Given the description of an element on the screen output the (x, y) to click on. 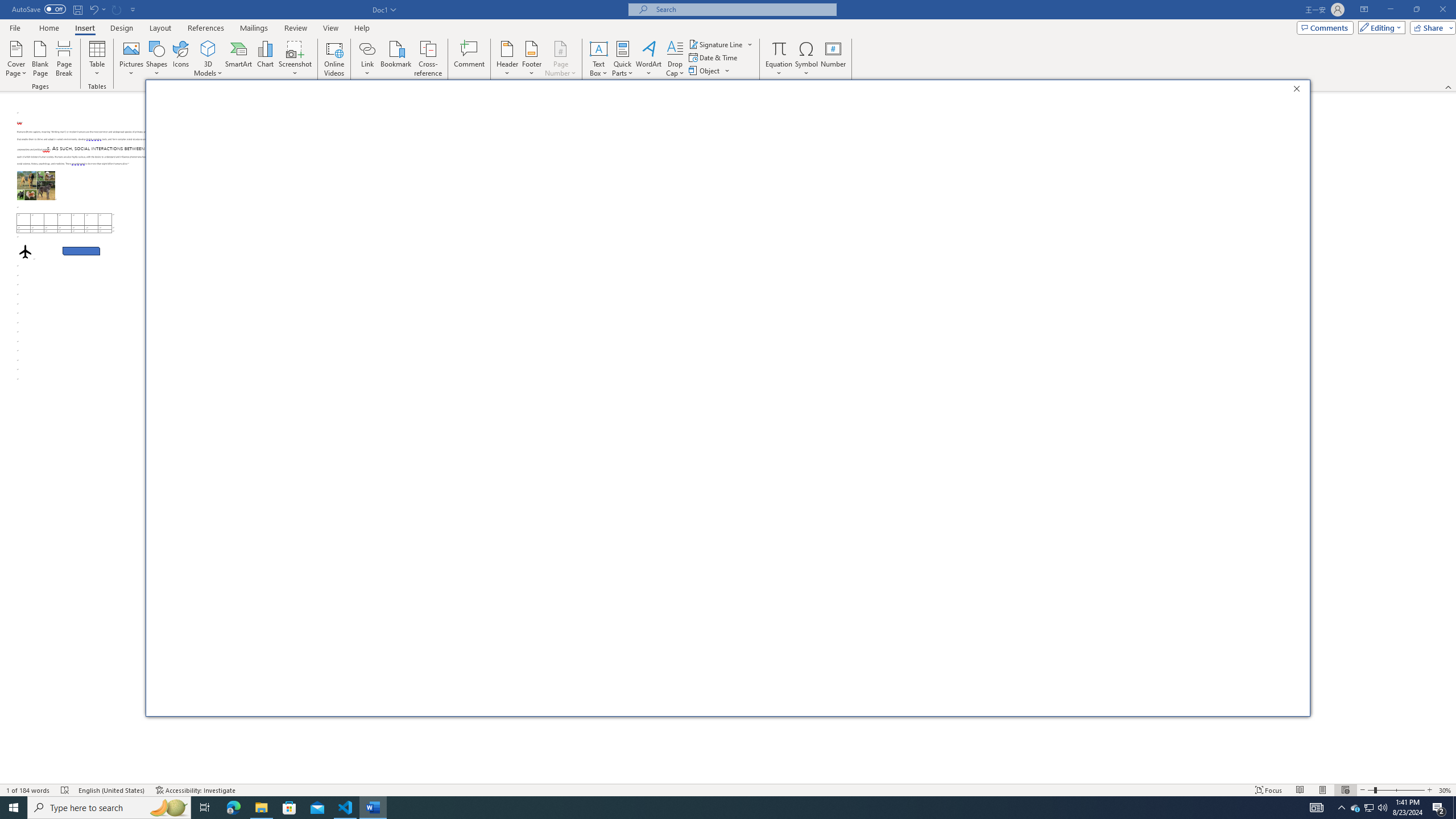
Number... (833, 58)
Cancel (1263, 700)
Cross-reference... (1368, 807)
Signature Line (428, 58)
Footer (721, 44)
Q2790: 100% (531, 58)
Search highlights icon opens search home window (1382, 807)
Send a Frown (167, 807)
Zoom 30% (1269, 114)
Class: MsoCommandBar (1445, 790)
